Given the description of an element on the screen output the (x, y) to click on. 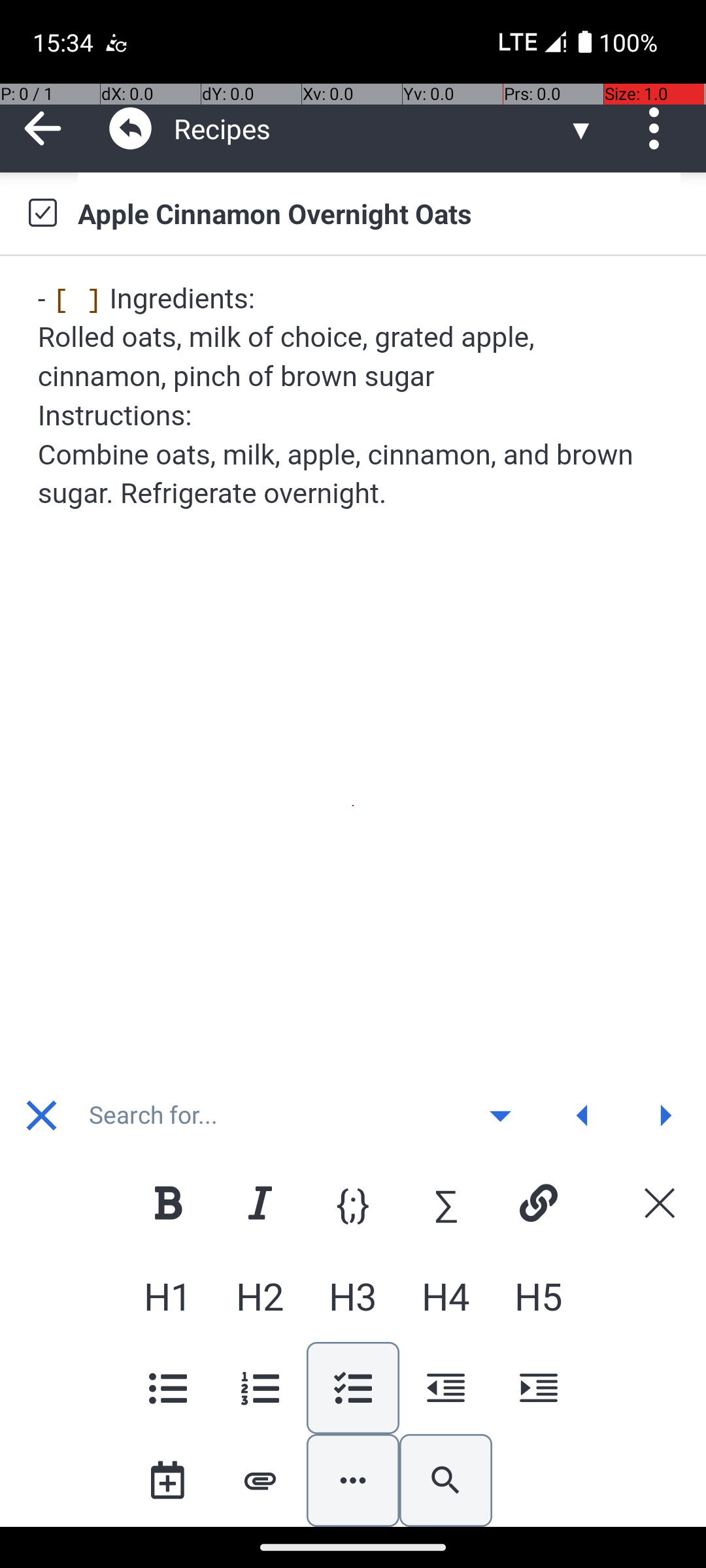
Apple Cinnamon Overnight Oats Element type: android.widget.EditText (378, 213)
Search for... Element type: android.widget.EditText (270, 1115)
Show advanced Element type: android.widget.Button (499, 1115)
Previous match Element type: android.widget.Button (582, 1115)
Next match Element type: android.widget.Button (664, 1115)
󰅖 Element type: android.widget.TextView (41, 1115)
󰍝 Element type: android.widget.TextView (500, 1115)
󰍞 Element type: android.widget.TextView (582, 1115)
󰍟 Element type: android.widget.TextView (664, 1115)
KaTeX Element type: android.widget.Button (445, 1202)
Header 1 Element type: android.widget.Button (167, 1295)
Header 2 Element type: android.widget.Button (259, 1295)
Header 3 Element type: android.widget.Button (352, 1295)
Header 4 Element type: android.widget.Button (445, 1295)
Header 5 Element type: android.widget.Button (538, 1295)
Decrease indent level Element type: android.widget.Button (445, 1387)
Increase indent level Element type: android.widget.Button (538, 1387)
Insert time Element type: android.widget.Button (167, 1480)
Hide more actions Element type: android.widget.Button (352, 1480)
Ingredients:
Rolled oats, milk of choice, grated apple, cinnamon, pinch of brown sugar
Instructions:
Combine oats, milk, apple, cinnamon, and brown sugar. Refrigerate overnight. Element type: android.widget.EditText (354, 396)
